Given the description of an element on the screen output the (x, y) to click on. 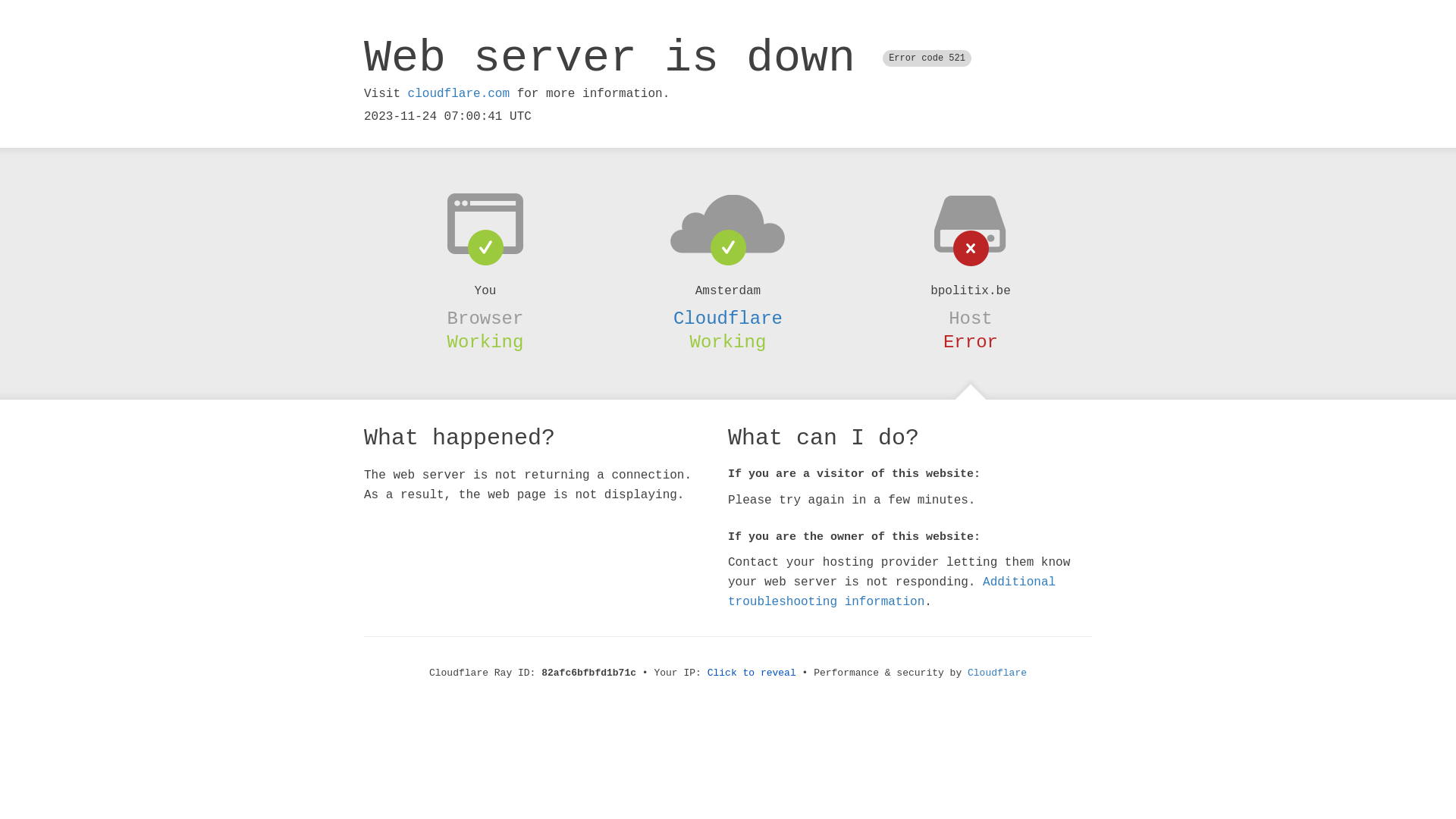
cloudflare.com Element type: text (458, 93)
Cloudflare Element type: text (727, 318)
Additional troubleshooting information Element type: text (891, 591)
Click to reveal Element type: text (751, 672)
Cloudflare Element type: text (996, 672)
